Given the description of an element on the screen output the (x, y) to click on. 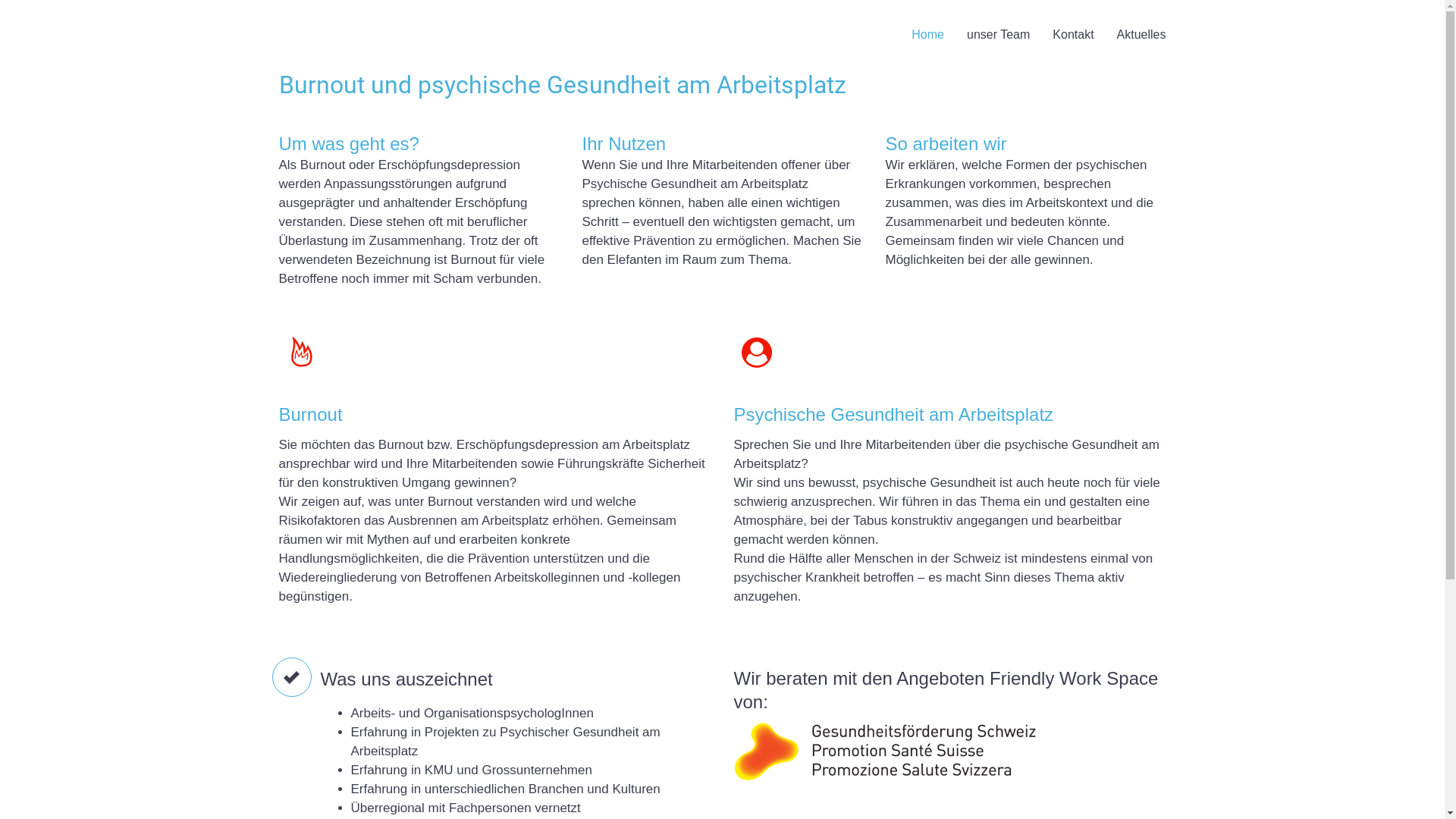
Home Element type: text (927, 34)
Kontakt Element type: text (1072, 34)
unser Team Element type: text (998, 34)
Aktuelles Element type: text (1141, 34)
